Given the description of an element on the screen output the (x, y) to click on. 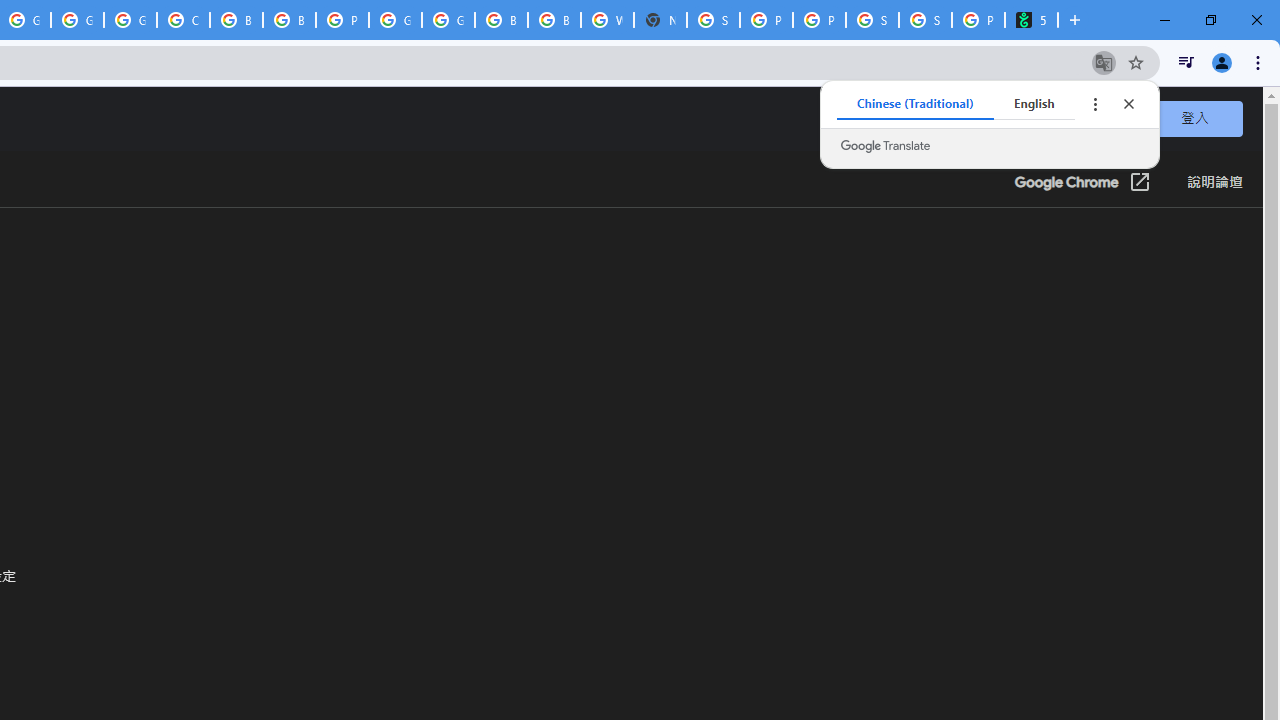
Google Cloud Platform (448, 20)
Browse Chrome as a guest - Computer - Google Chrome Help (289, 20)
Google Cloud Platform (395, 20)
Translate this page (1103, 62)
Chinese (Traditional) (915, 103)
Google Cloud Platform (77, 20)
